Given the description of an element on the screen output the (x, y) to click on. 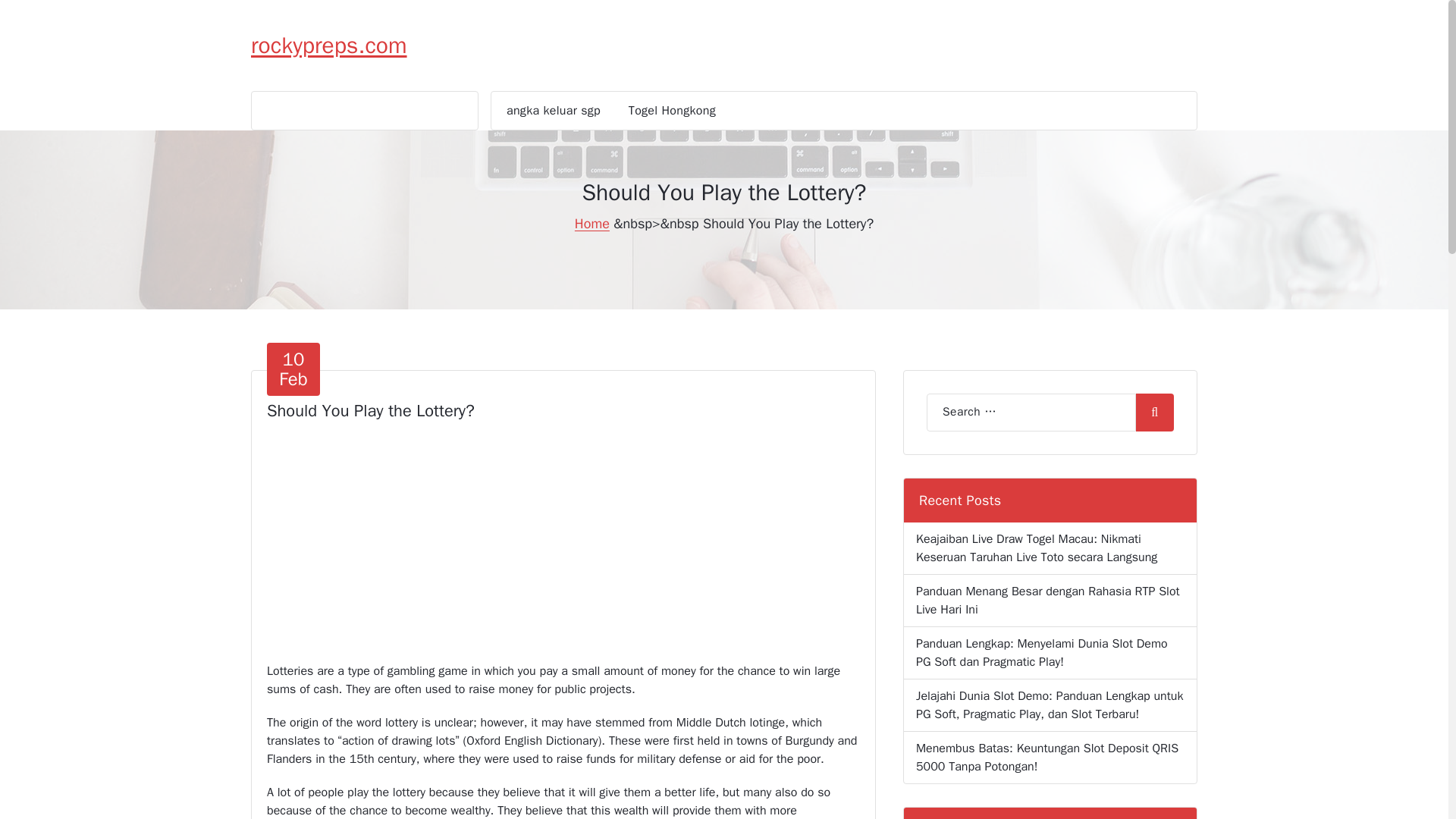
Panduan Menang Besar dengan Rahasia RTP Slot Live Hari Ini (1050, 600)
angka keluar sgp (552, 110)
Home (592, 223)
angka keluar sgp (293, 369)
rockypreps.com (552, 110)
Search (328, 44)
Togel Hongkong (1154, 412)
Togel Hongkong (672, 110)
